Given the description of an element on the screen output the (x, y) to click on. 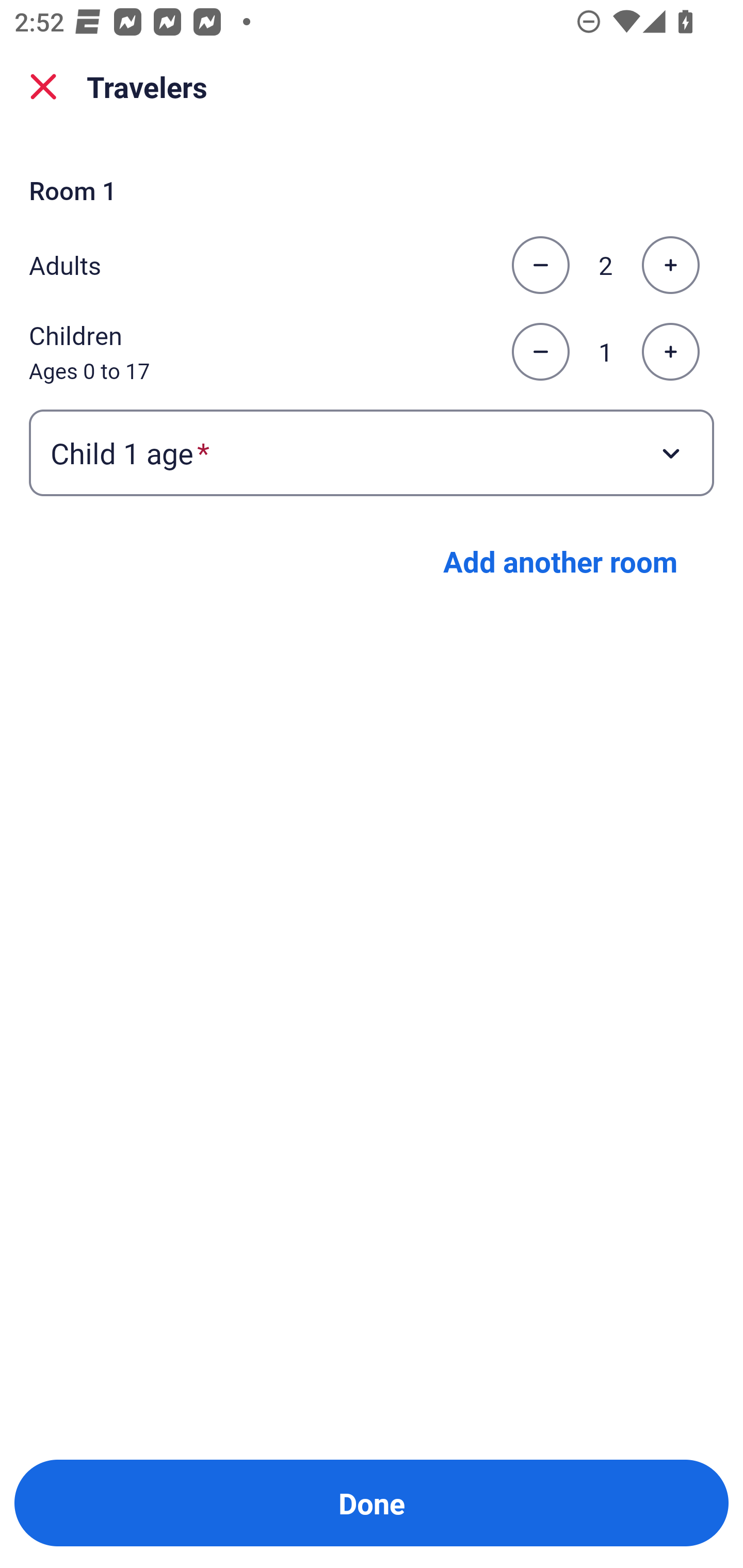
close (43, 86)
Decrease the number of adults (540, 264)
Increase the number of adults (670, 264)
Decrease the number of children (540, 351)
Increase the number of children (670, 351)
Child 1 age required Button (371, 452)
Add another room (560, 561)
Done (371, 1502)
